Given the description of an element on the screen output the (x, y) to click on. 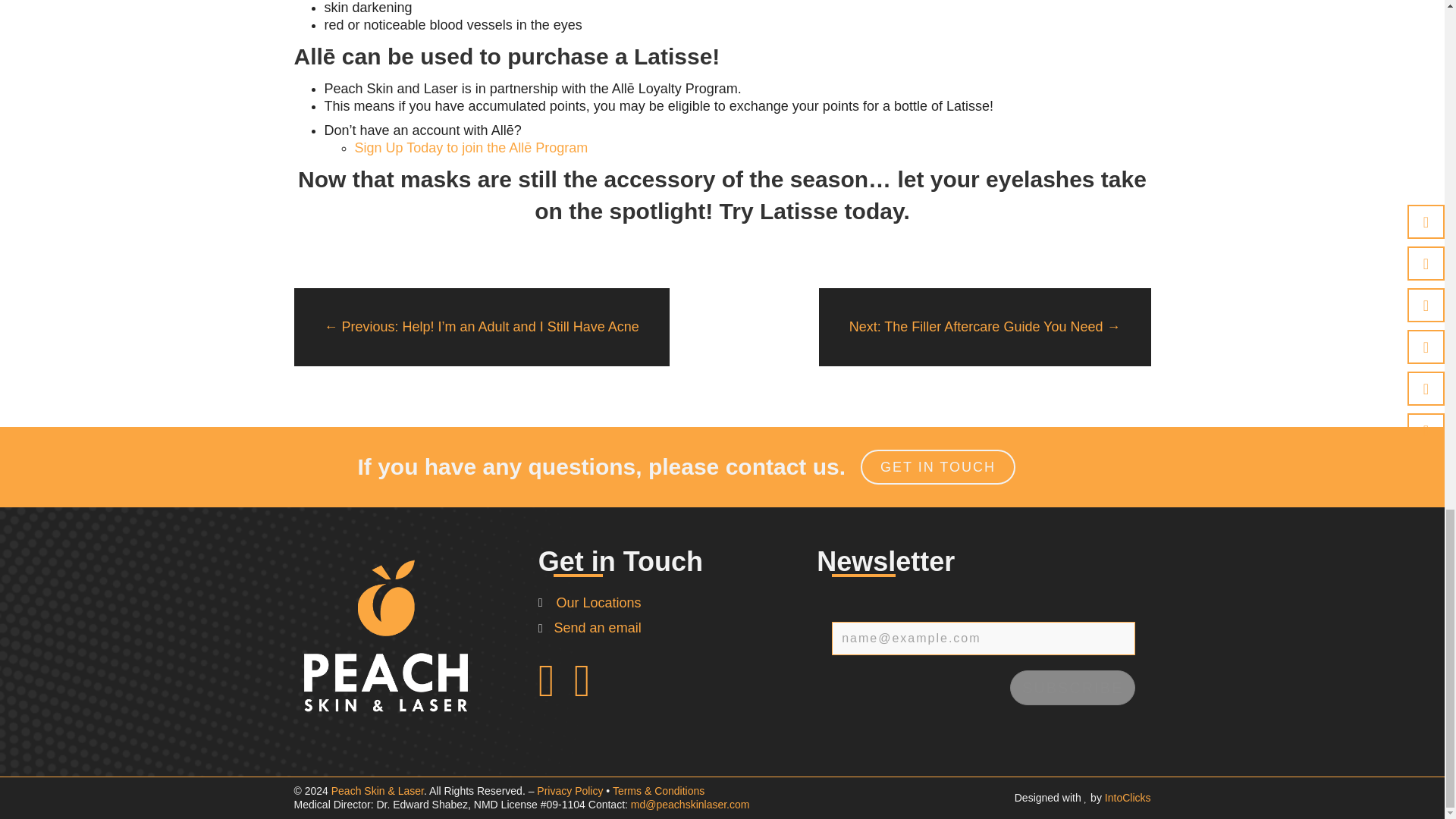
PEACH Logo Vertical White (385, 636)
Click Here (937, 466)
